Given the description of an element on the screen output the (x, y) to click on. 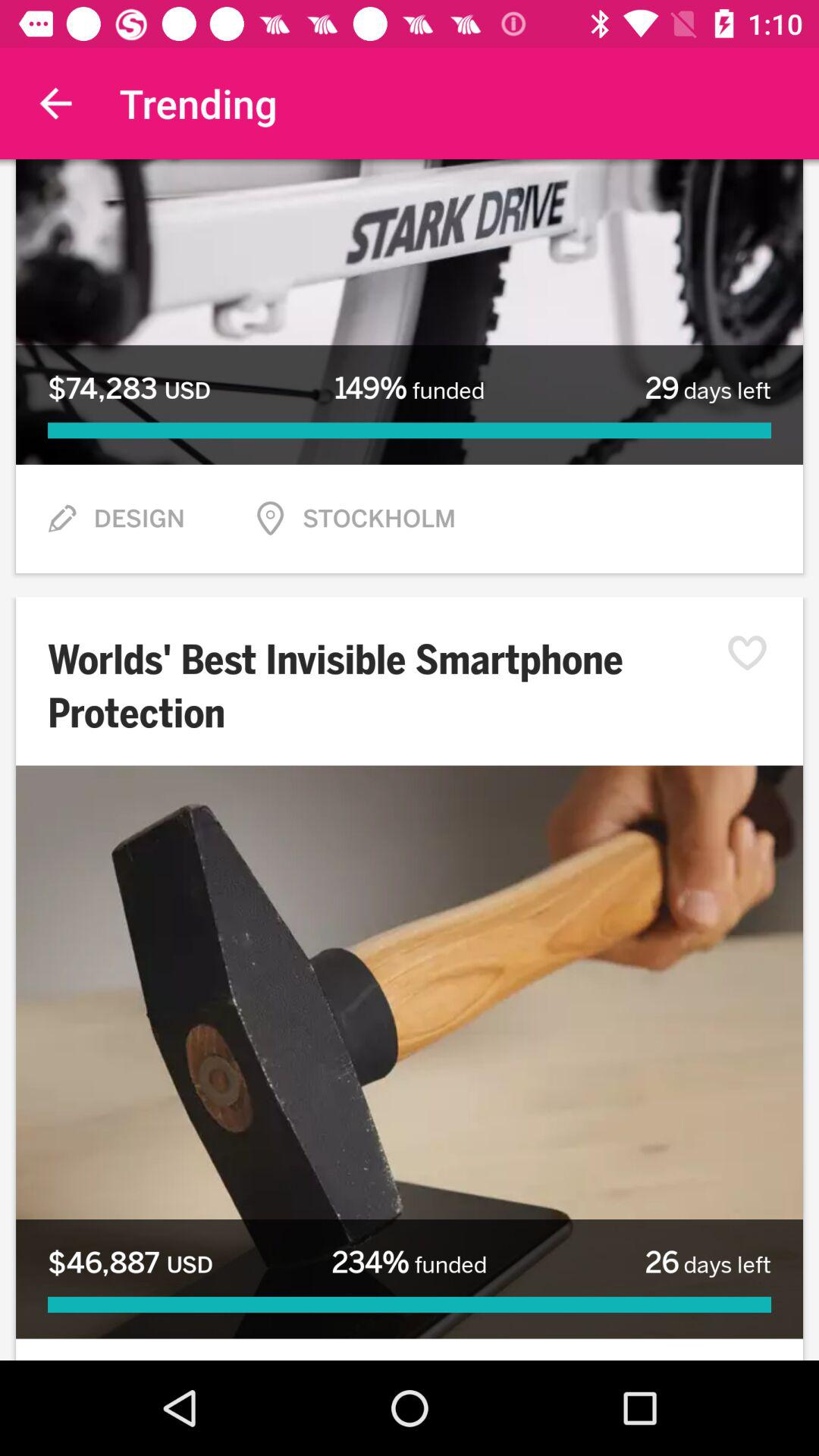
choose the item next to the trending icon (55, 103)
